Given the description of an element on the screen output the (x, y) to click on. 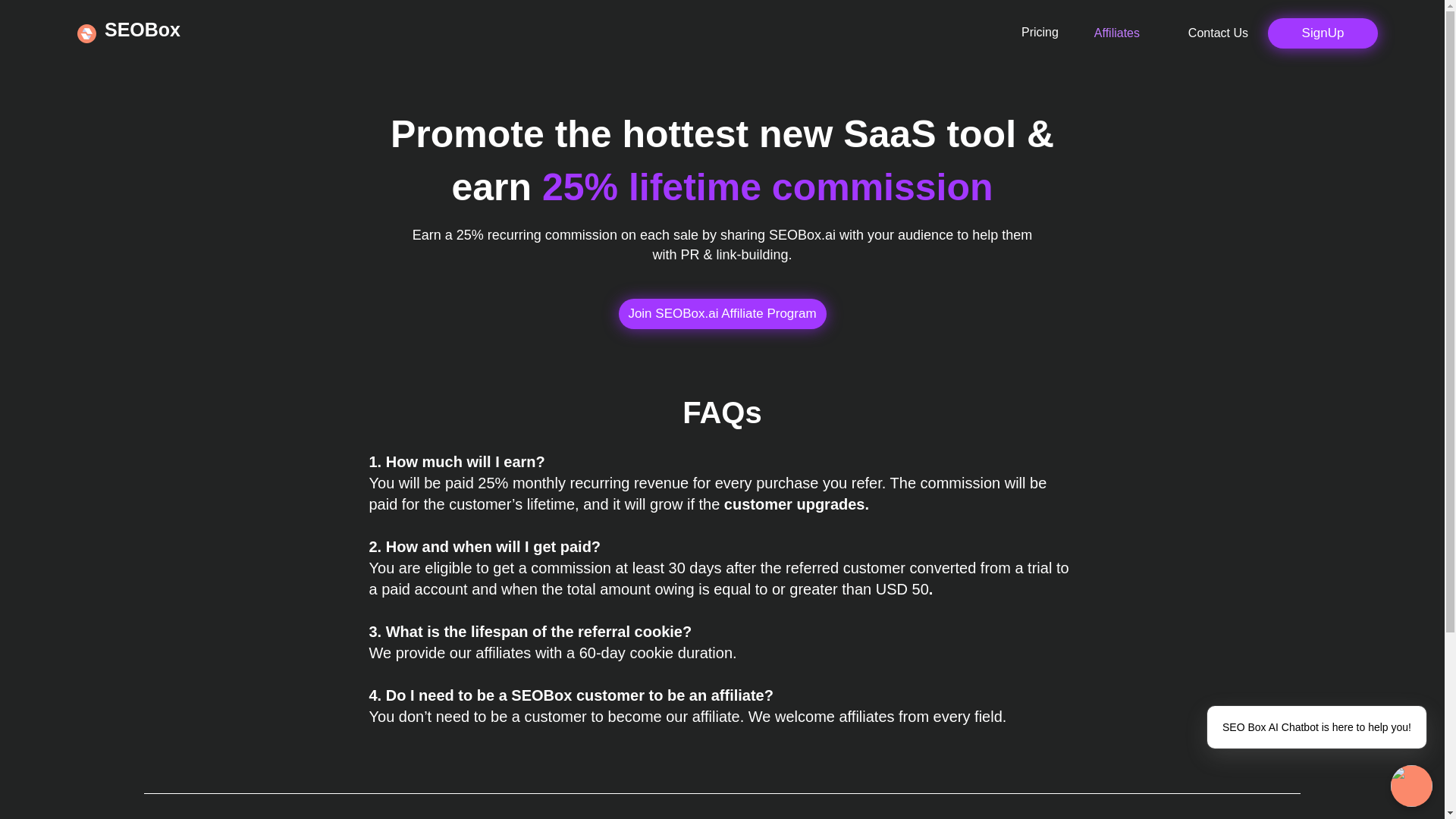
SignUp (1322, 33)
Affiliates (1104, 33)
Pricing (1040, 31)
Join SEOBox.ai Affiliate Program (722, 313)
Contact Us (1205, 33)
SEOBox (142, 29)
